Given the description of an element on the screen output the (x, y) to click on. 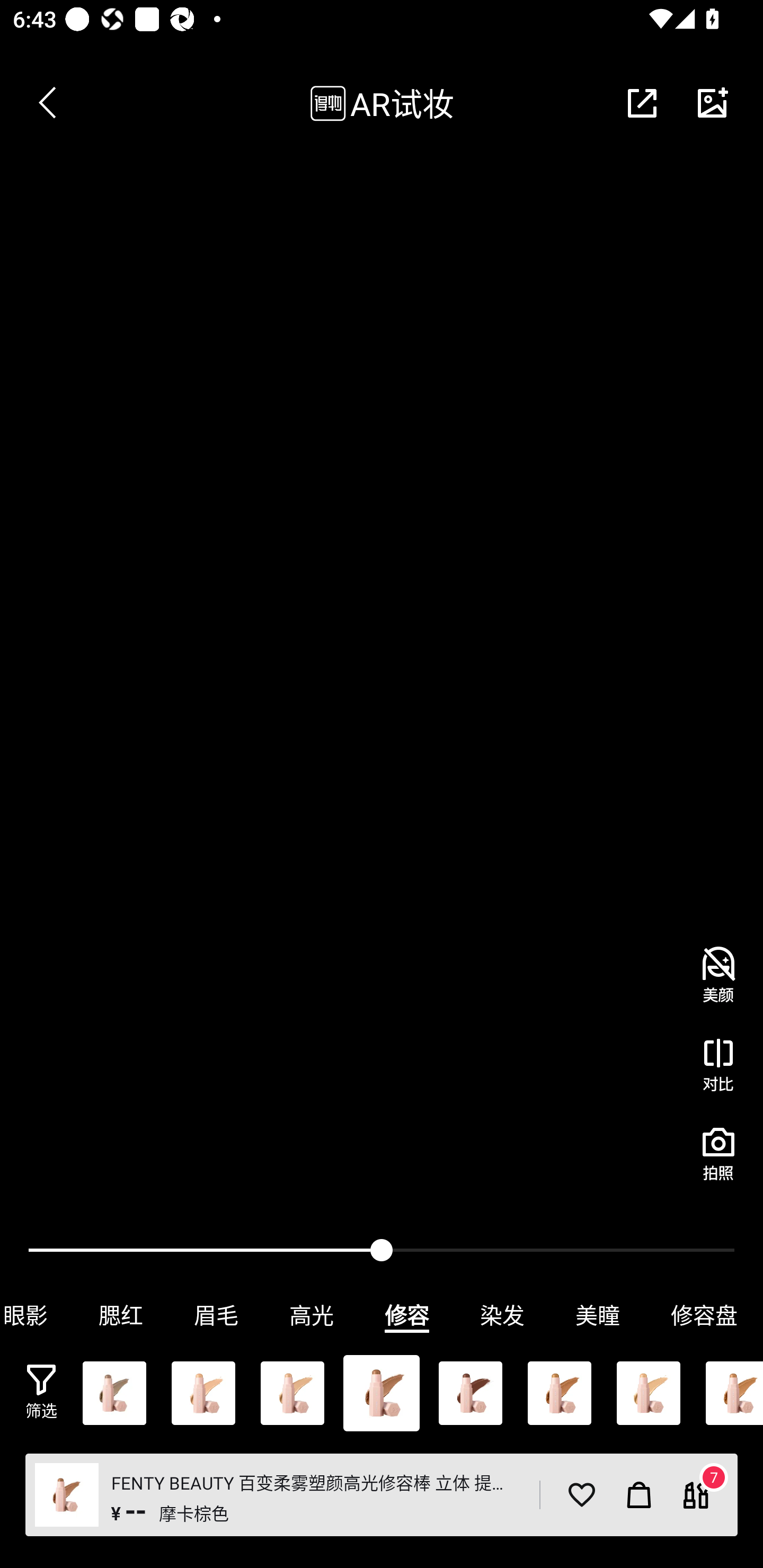
眼影 (36, 1315)
腮红 (120, 1315)
眉毛 (215, 1315)
高光 (311, 1315)
修容 (406, 1315)
染发 (502, 1315)
美瞳 (597, 1315)
修容盘 (704, 1315)
筛选 (41, 1392)
